Given the description of an element on the screen output the (x, y) to click on. 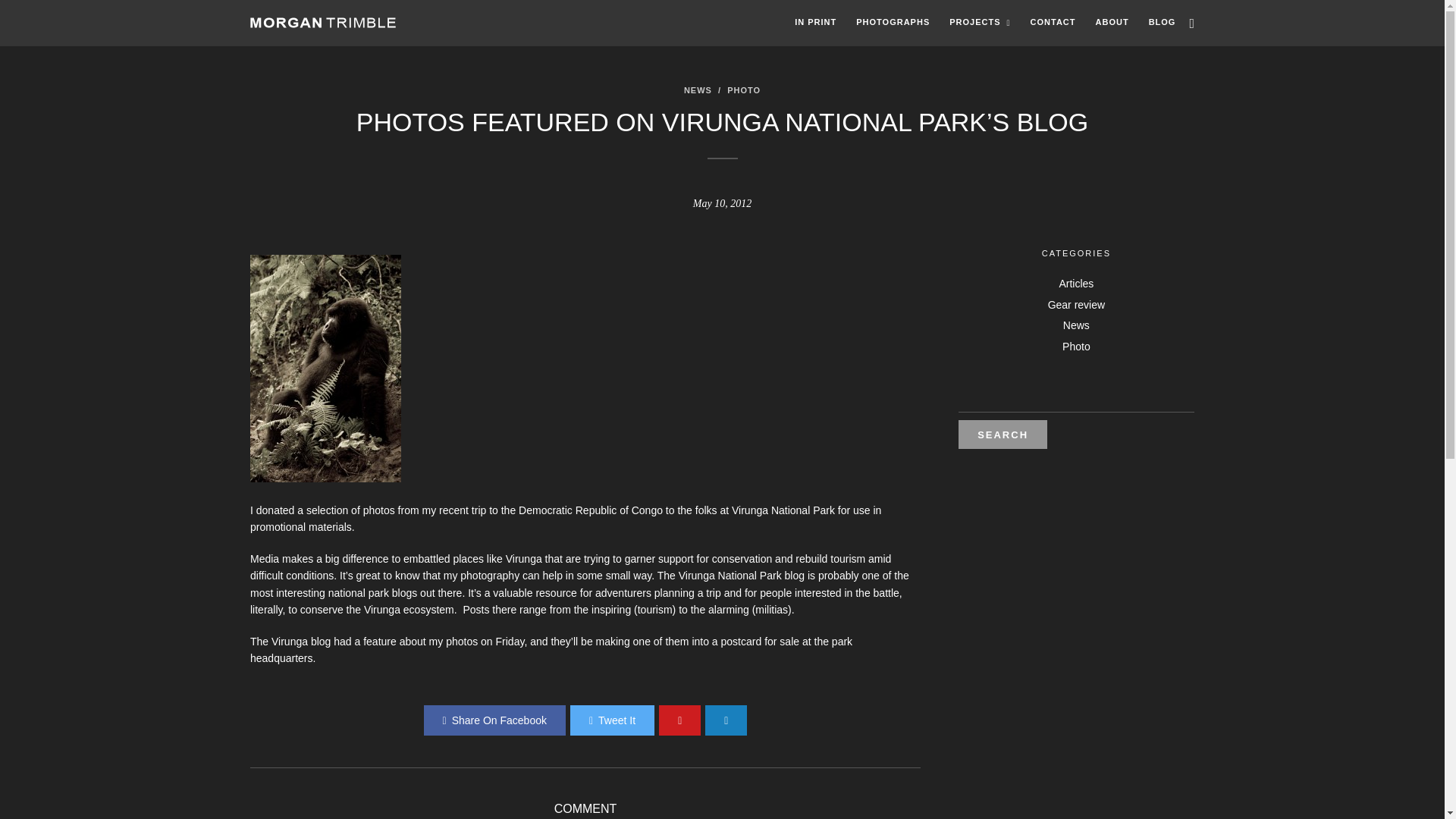
Search (1003, 434)
Gear review (1076, 304)
Articles (1075, 283)
CONTACT (1053, 23)
IN PRINT (814, 23)
PHOTO (743, 90)
Tweet It (611, 720)
NEWS (697, 90)
Photo (1076, 346)
ABOUT (1112, 23)
